Given the description of an element on the screen output the (x, y) to click on. 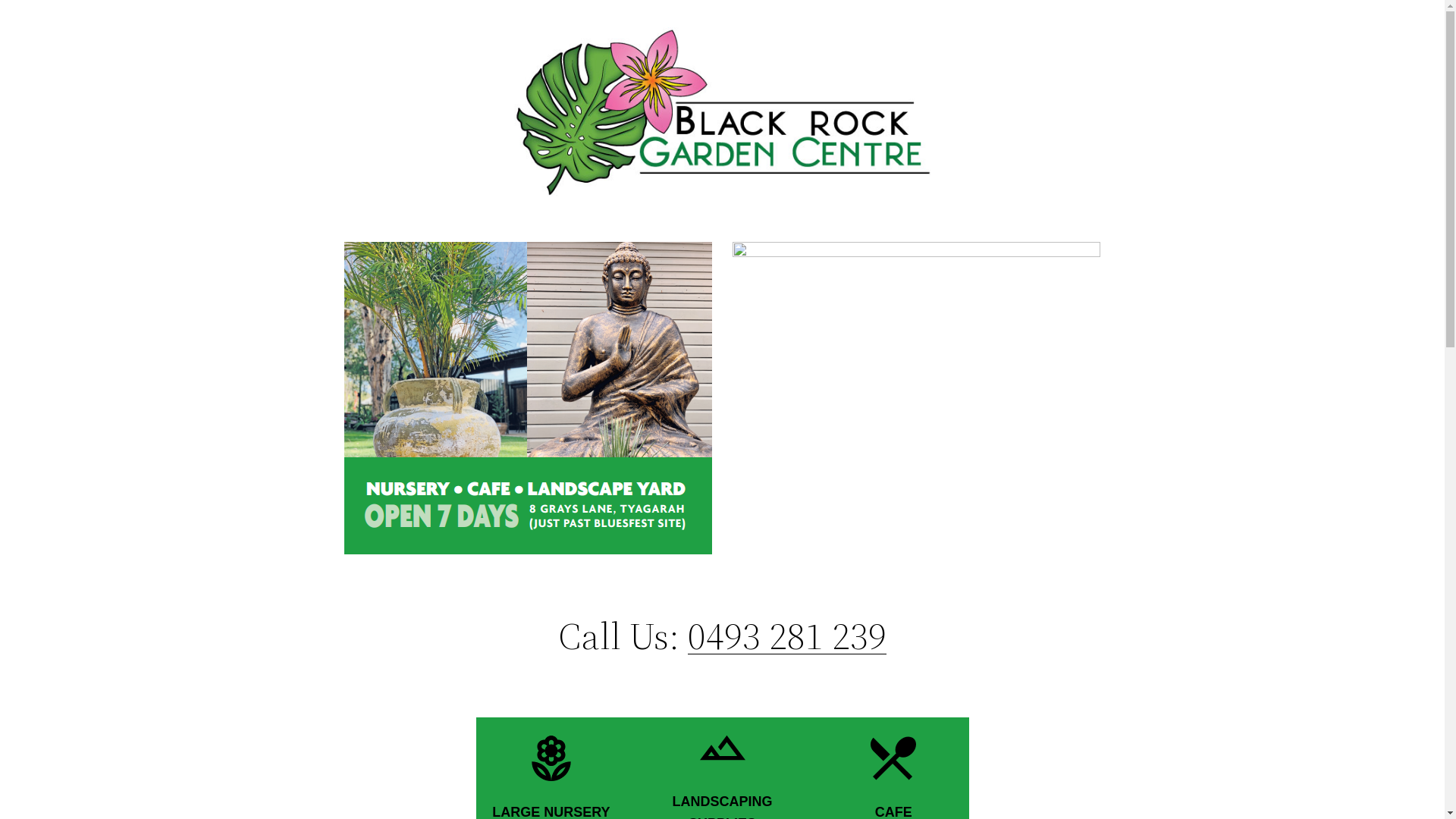
0493 281 239 Element type: text (786, 635)
